Given the description of an element on the screen output the (x, y) to click on. 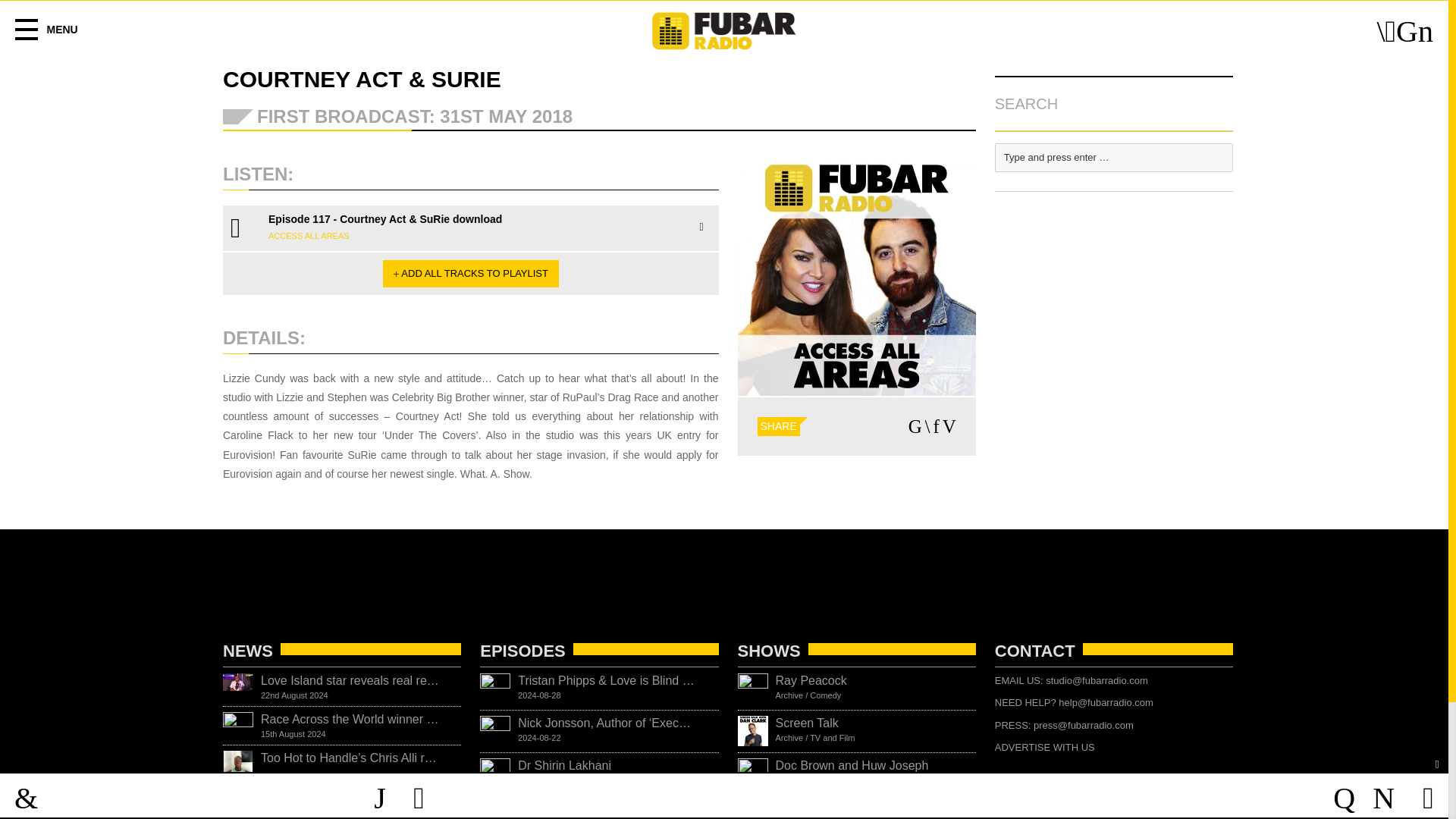
SEARCH (1113, 103)
ADD ALL TRACKS TO PLAYLIST (598, 773)
ADVERTISE WITH US (470, 273)
ACCESS ALL AREAS (1044, 747)
